Given the description of an element on the screen output the (x, y) to click on. 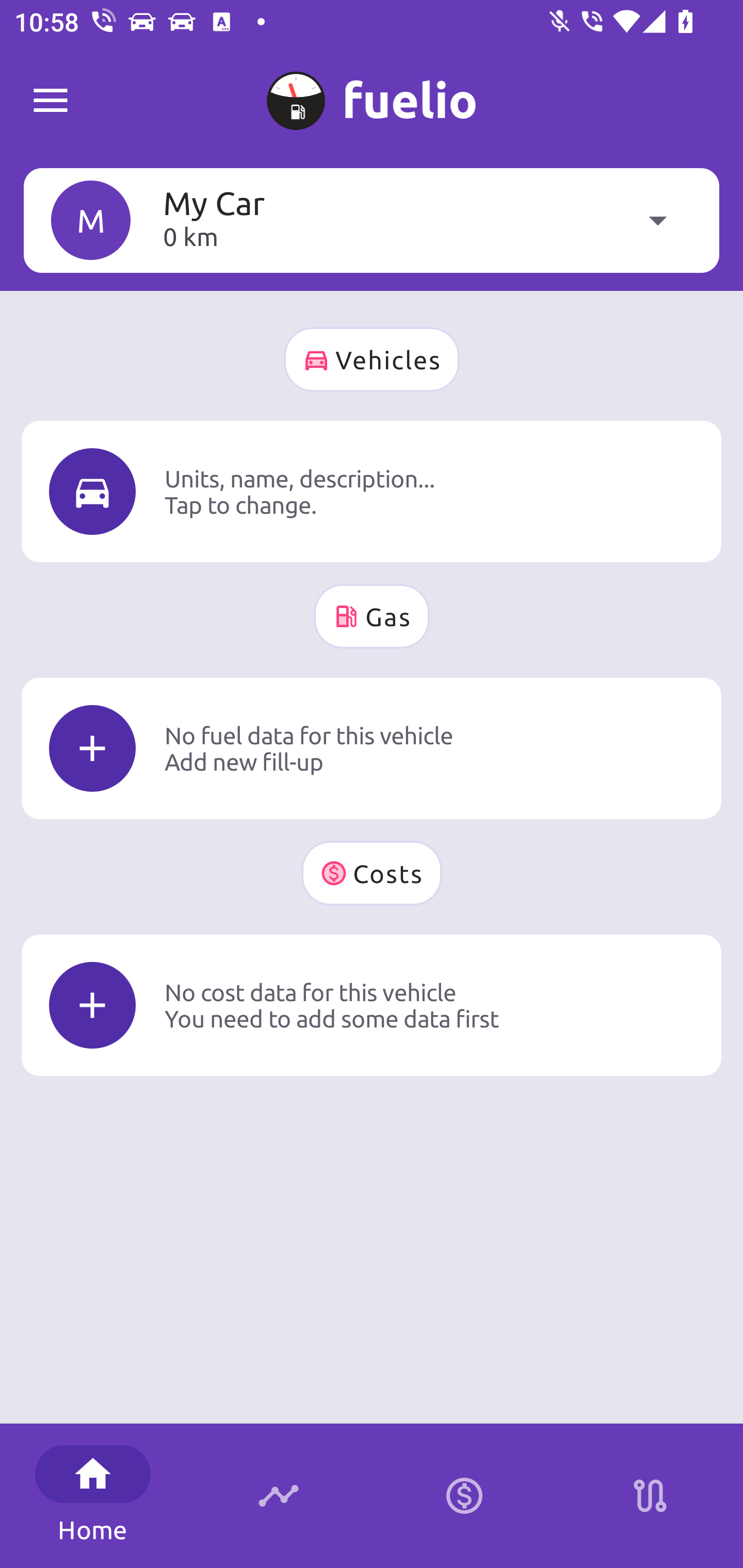
Fuelio (50, 101)
M My Car 0 km (371, 219)
Vehicles (371, 359)
Icon Units, name, description...
Tap to change. (371, 491)
Icon (92, 491)
Gas (371, 616)
Icon No fuel data for this vehicle
Add new fill-up (371, 747)
Icon (92, 748)
Costs (371, 873)
Icon (92, 1004)
Timeline (278, 1495)
Calculator (464, 1495)
Stations on route (650, 1495)
